Given the description of an element on the screen output the (x, y) to click on. 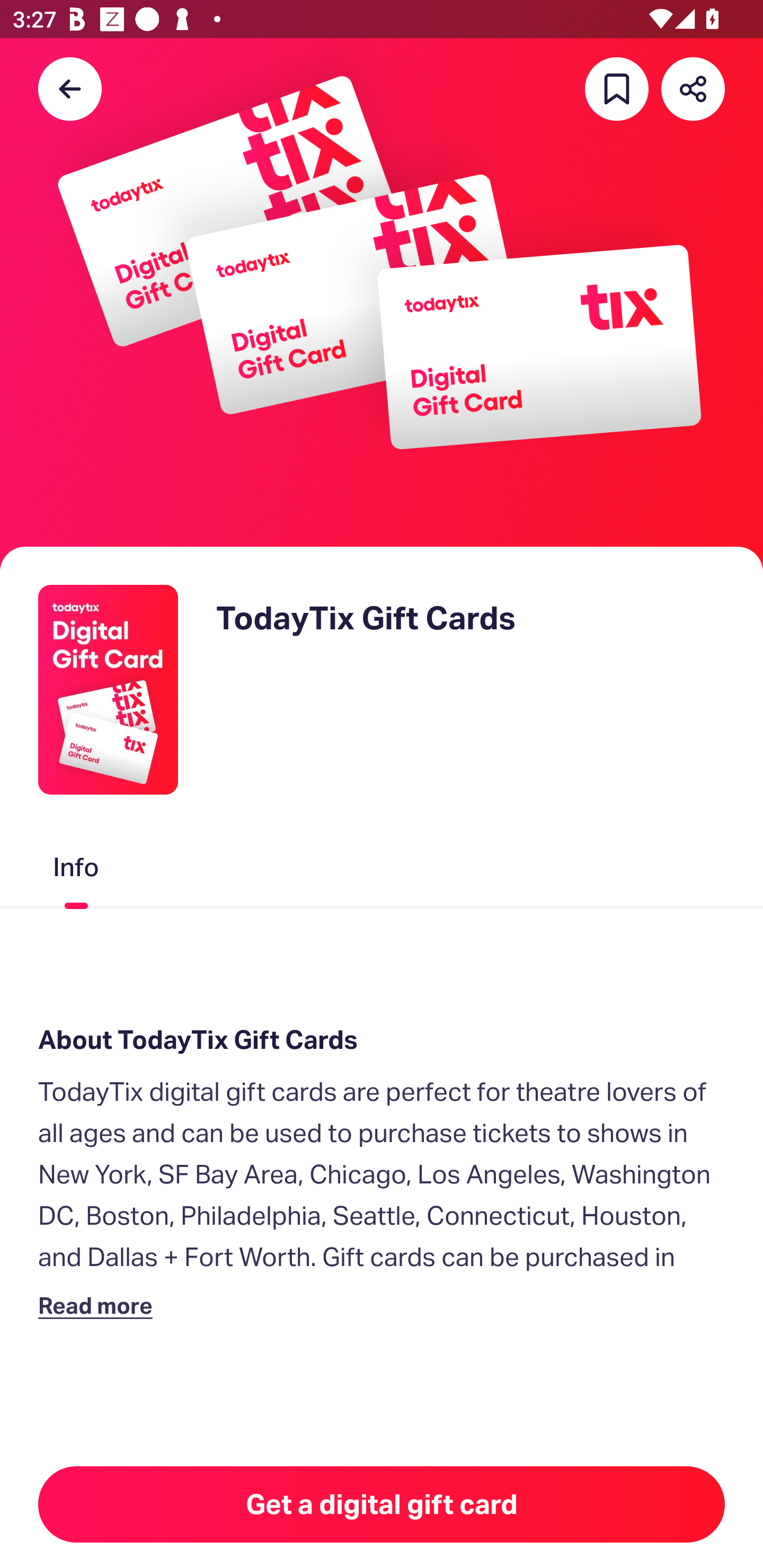
About TodayTix Gift Cards (381, 1039)
Read more (99, 1305)
Get a digital gift card (381, 1504)
